Given the description of an element on the screen output the (x, y) to click on. 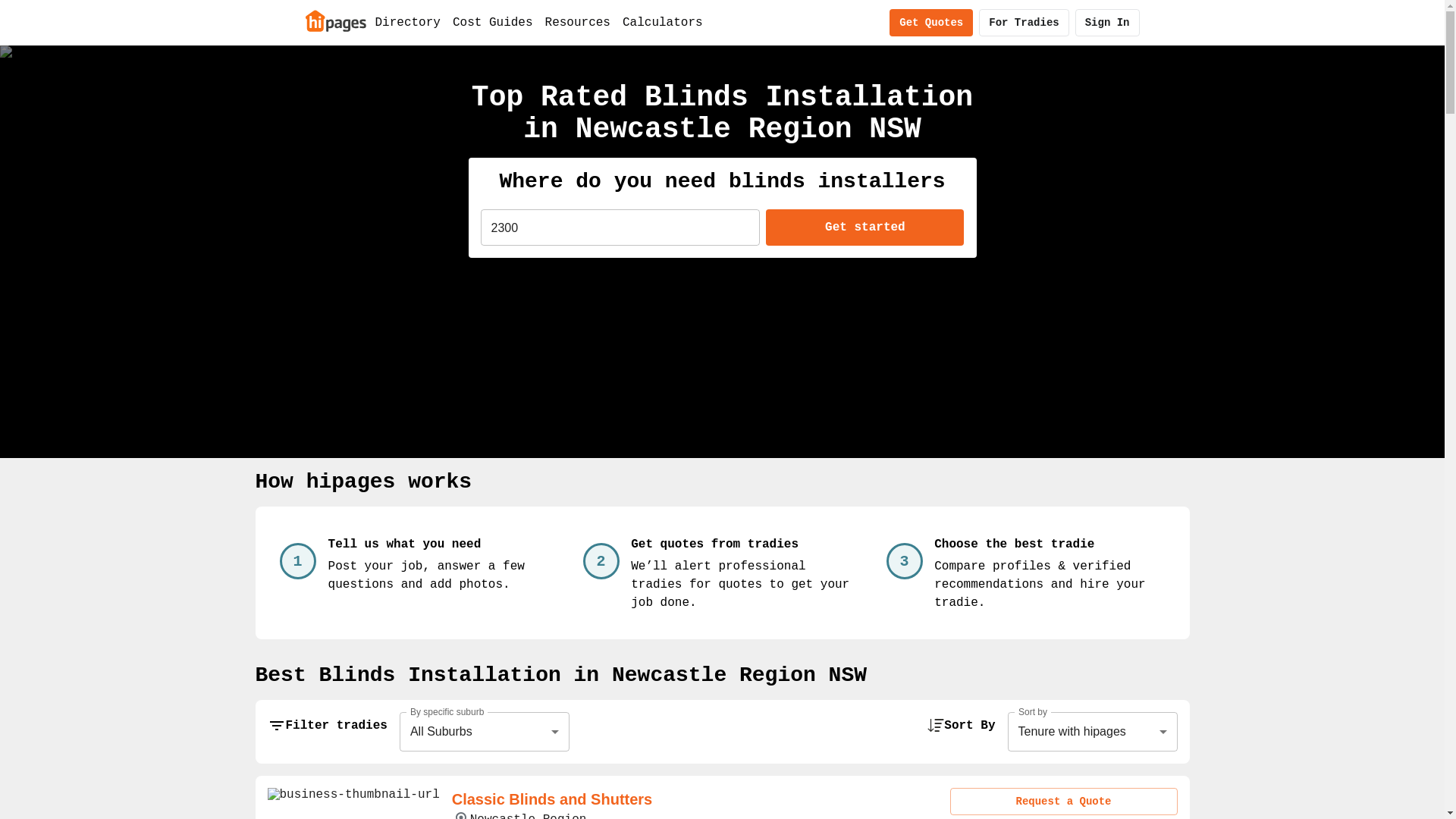
Home Element type: hover (334, 20)
Get Quotes Element type: text (930, 22)
For Tradies Element type: text (1023, 22)
Resources Element type: text (577, 22)
Cost Guides Element type: text (492, 22)
Get started Element type: text (864, 227)
Calculators Element type: text (662, 22)
Directory Element type: text (406, 22)
Request a Quote Element type: text (1062, 801)
Sign In Element type: text (1107, 22)
